Given the description of an element on the screen output the (x, y) to click on. 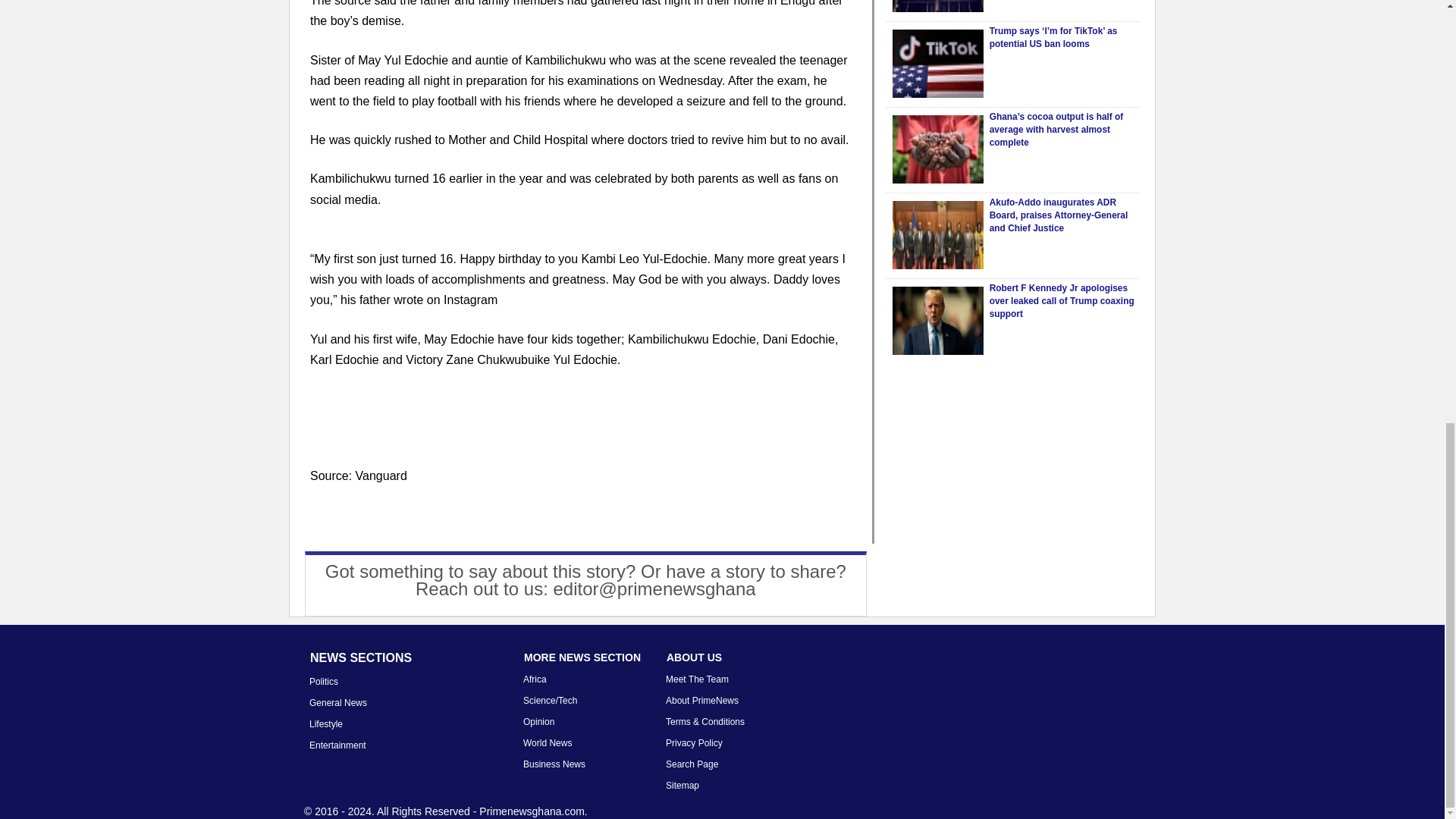
General News (337, 702)
Politics (322, 681)
